Given the description of an element on the screen output the (x, y) to click on. 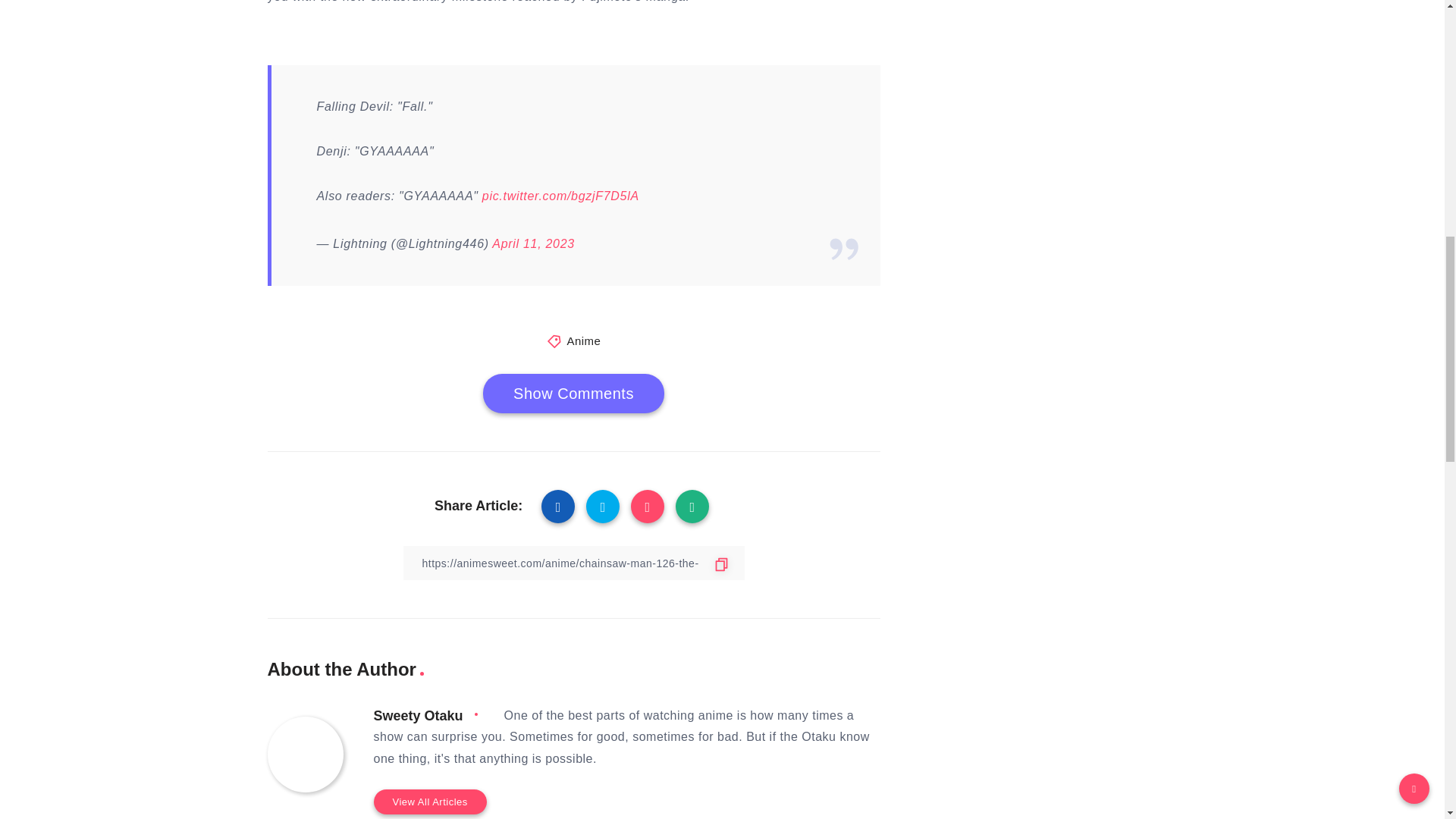
Anime (582, 340)
Sweety Otaku (417, 715)
Show Comments (573, 393)
April 11, 2023 (533, 243)
View All Articles (429, 801)
